Given the description of an element on the screen output the (x, y) to click on. 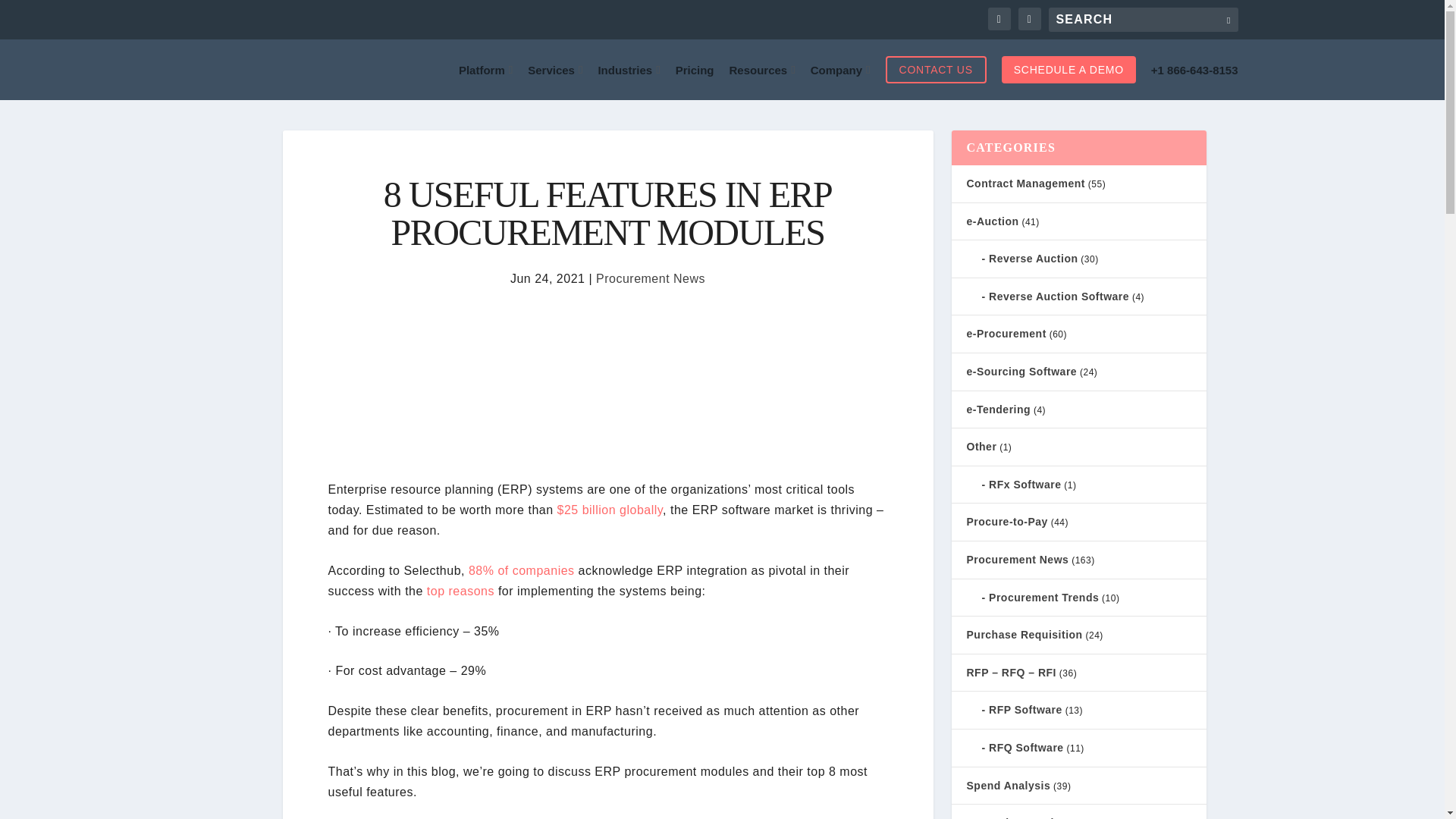
Pricing (694, 69)
SCHEDULE A DEMO (1068, 69)
Procurement News (649, 278)
Search for: (1142, 19)
Industries (627, 69)
Company (840, 69)
Services (554, 69)
Resources (761, 69)
Platform (485, 69)
CONTACT US (936, 69)
